Given the description of an element on the screen output the (x, y) to click on. 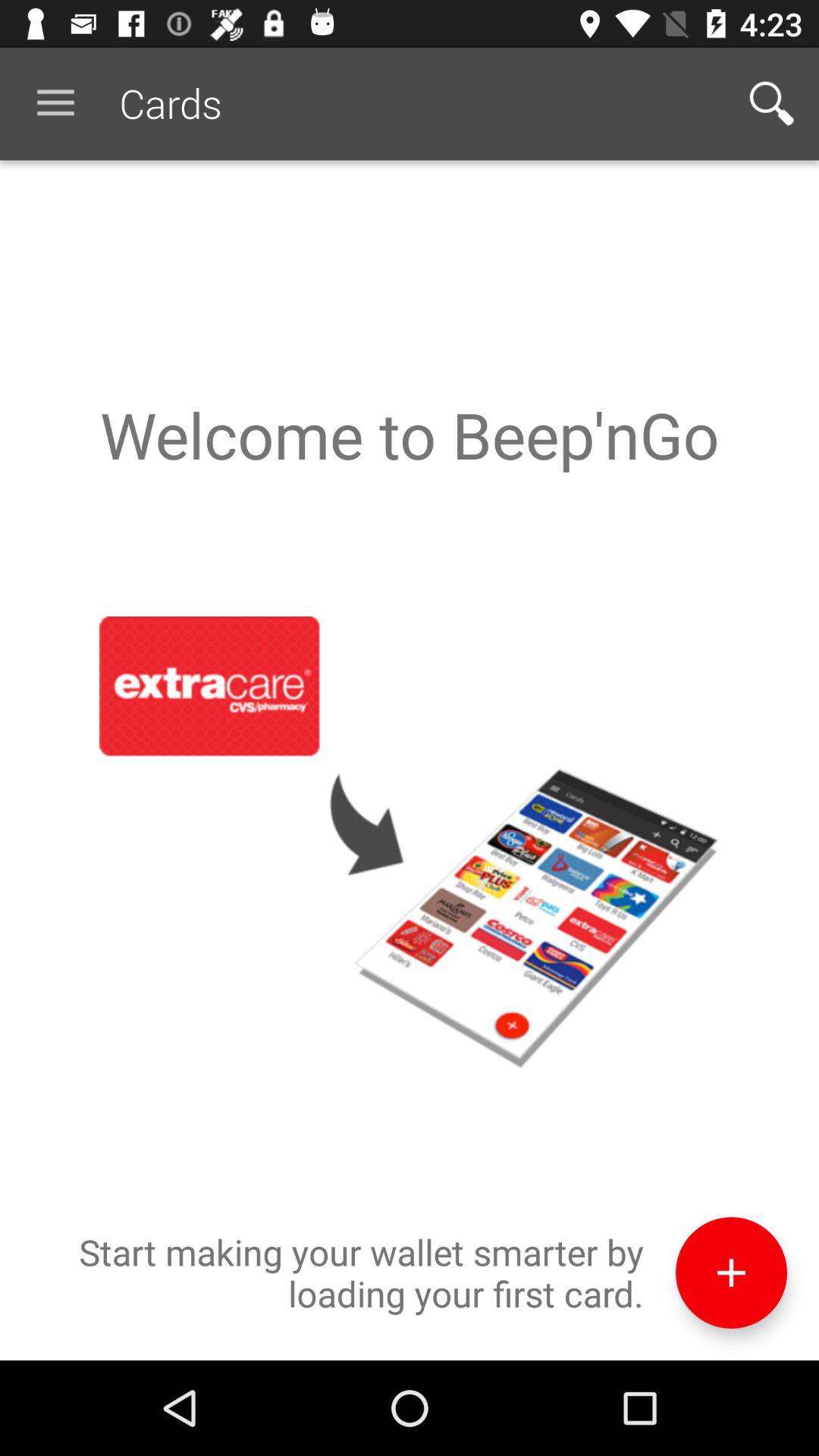
tap item next to the start making your (731, 1272)
